Given the description of an element on the screen output the (x, y) to click on. 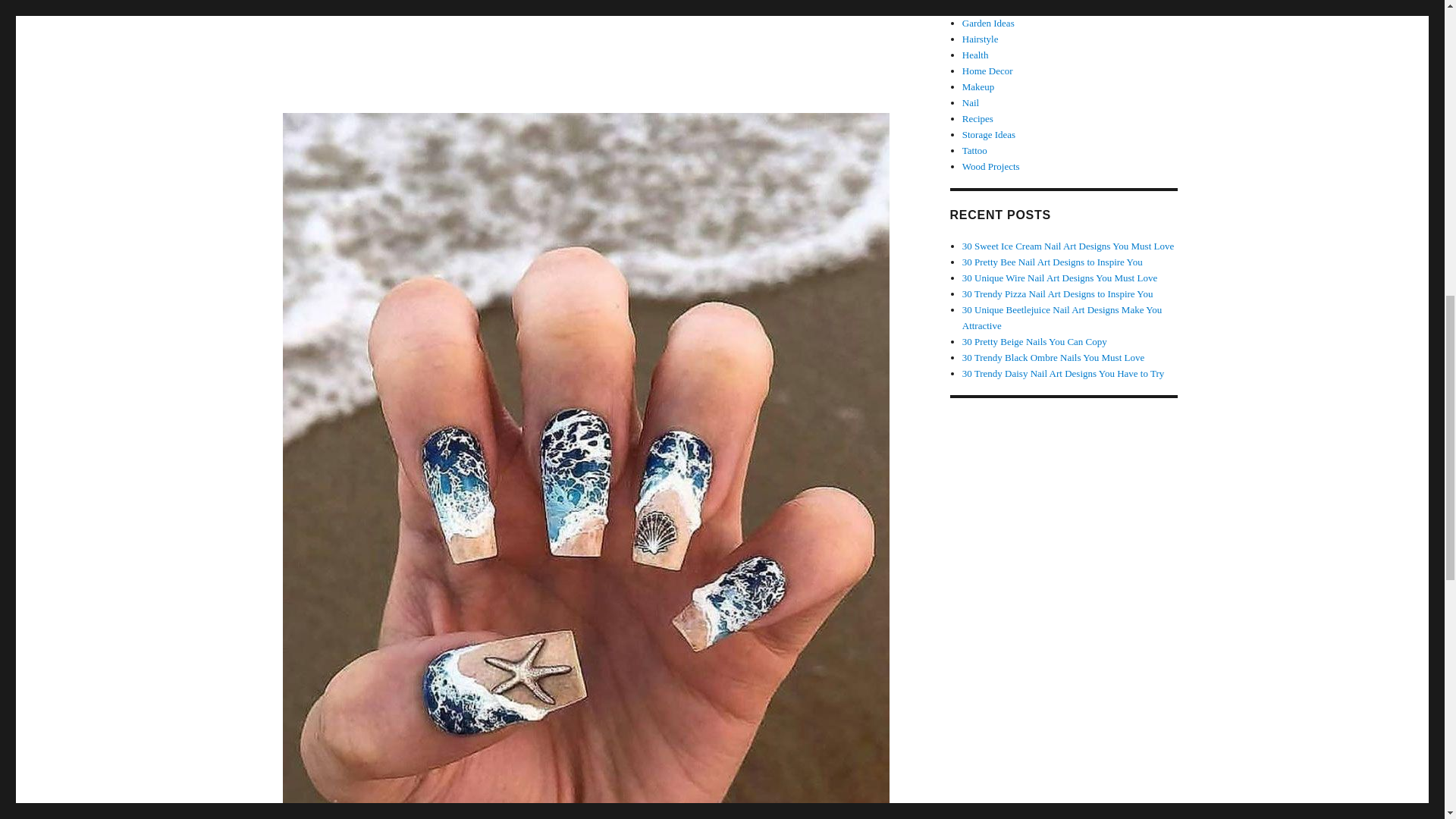
30 Sweet Ice Cream Nail Art Designs You Must Love (1067, 245)
30 Trendy Pizza Nail Art Designs to Inspire You (1057, 293)
30 Trendy Daisy Nail Art Designs You Have to Try (1063, 373)
30 Trendy Black Ombre Nails You Must Love (1053, 357)
30 Pretty Beige Nails You Can Copy (1034, 341)
Advertisement (585, 53)
30 Unique Beetlejuice Nail Art Designs Make You Attractive (1061, 317)
30 Unique Wire Nail Art Designs You Must Love (1059, 277)
30 Pretty Bee Nail Art Designs to Inspire You (1052, 261)
